Given the description of an element on the screen output the (x, y) to click on. 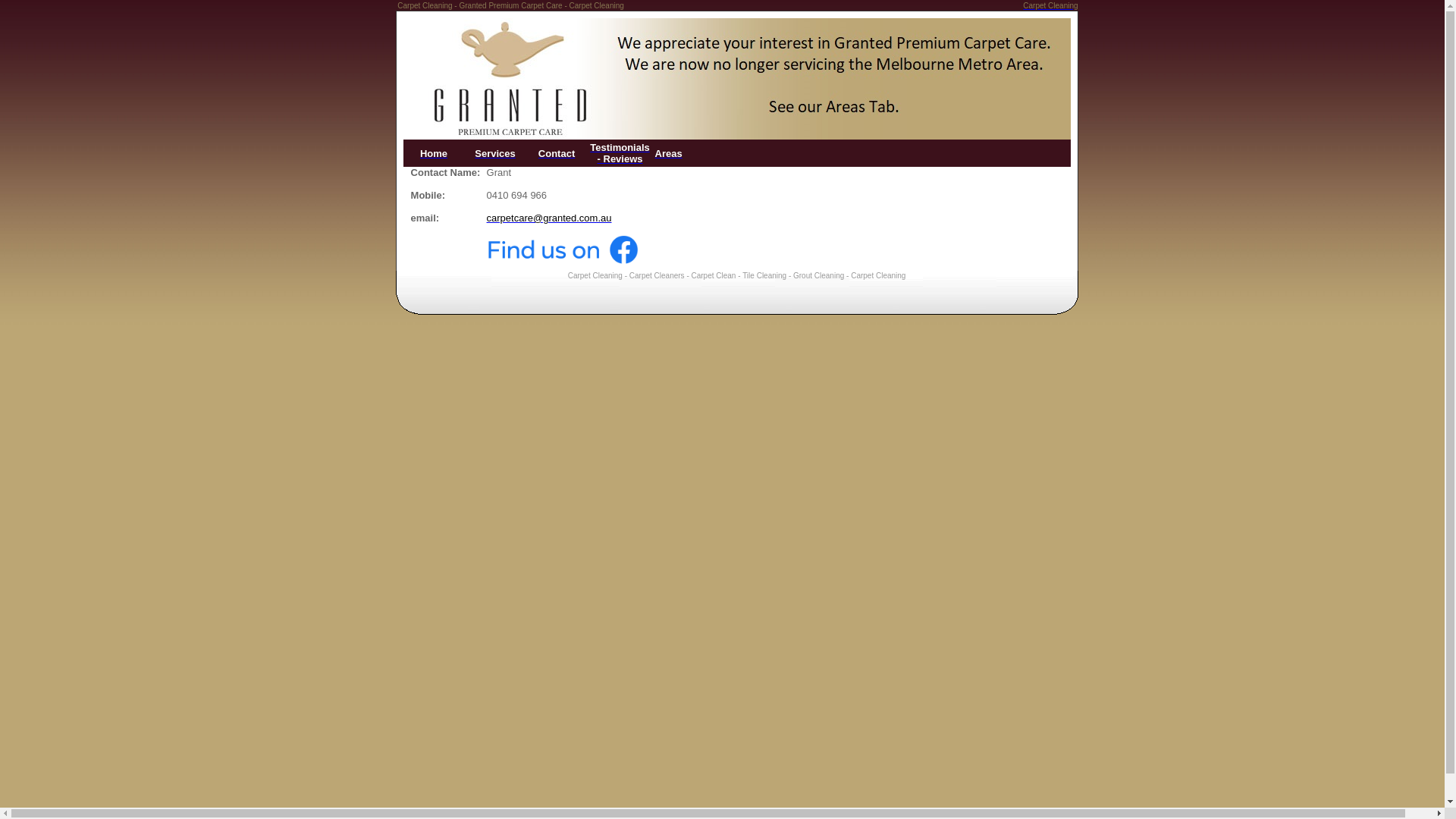
Testimonials - Reviews Element type: text (619, 152)
Areas Element type: text (668, 152)
carpetcare@granted.com.au Element type: text (548, 217)
Services Element type: text (494, 152)
Home Element type: text (433, 152)
Contact Element type: text (556, 152)
